Given the description of an element on the screen output the (x, y) to click on. 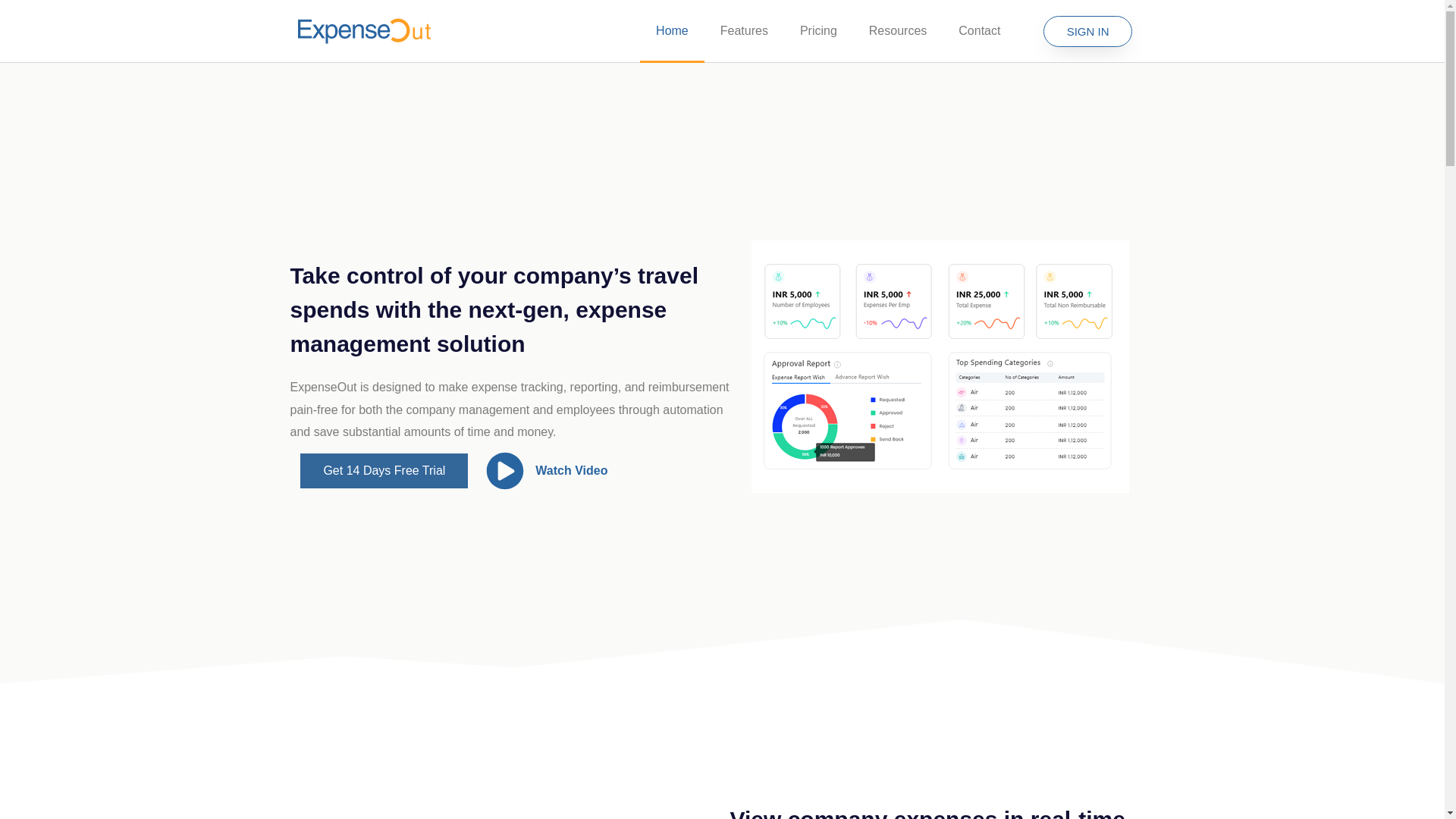
Resources (897, 30)
Pricing (818, 30)
Contact (979, 30)
Features (744, 30)
SIGN IN (1087, 30)
Home (672, 30)
